Given the description of an element on the screen output the (x, y) to click on. 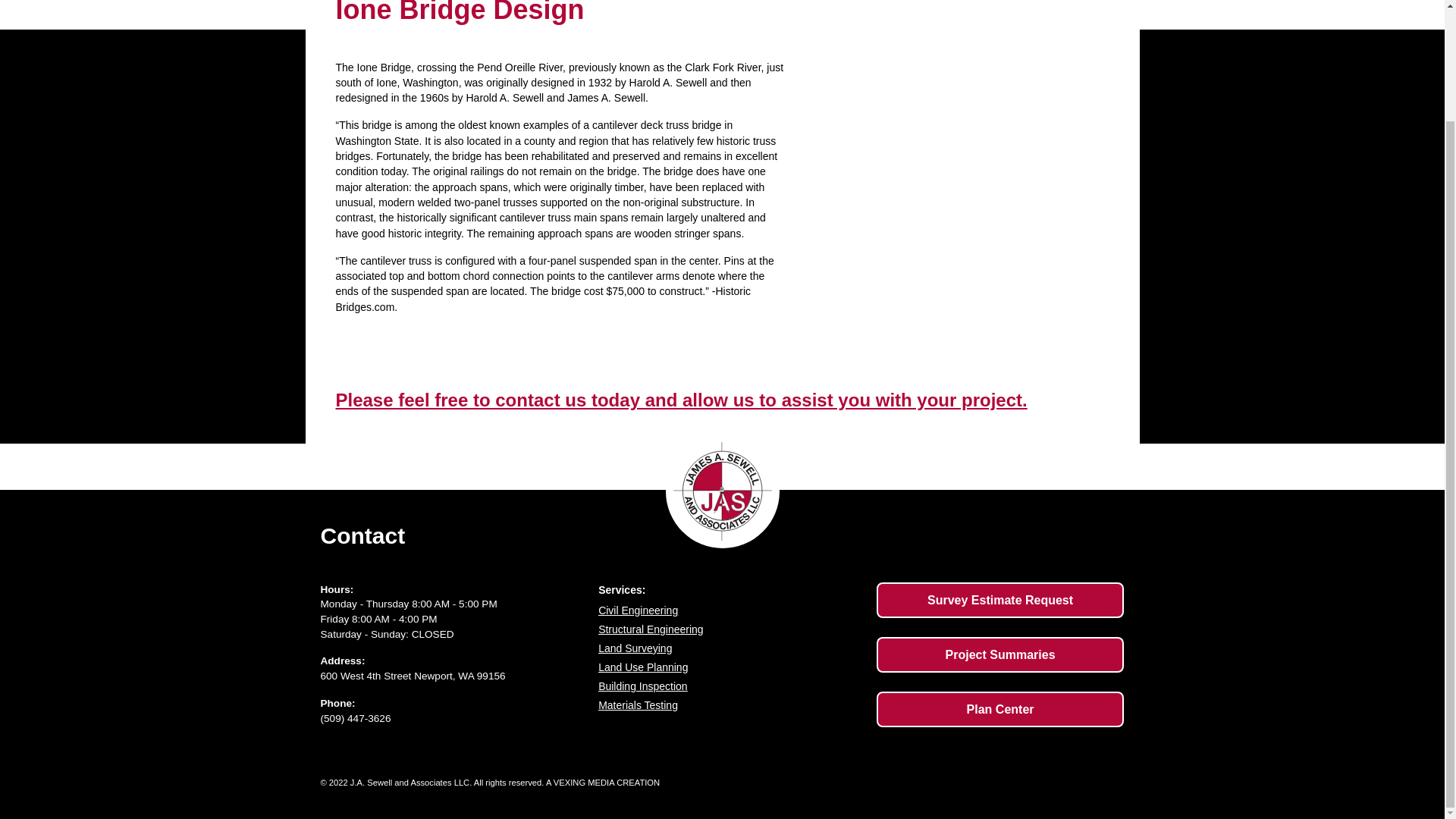
Plan Center (1000, 709)
Materials Testing (729, 705)
Structural Engineering (729, 628)
Building Inspection (729, 686)
Civil Engineering (729, 610)
logo-jas (721, 490)
Project Summaries (1000, 654)
VEXING MEDIA (583, 782)
